Given the description of an element on the screen output the (x, y) to click on. 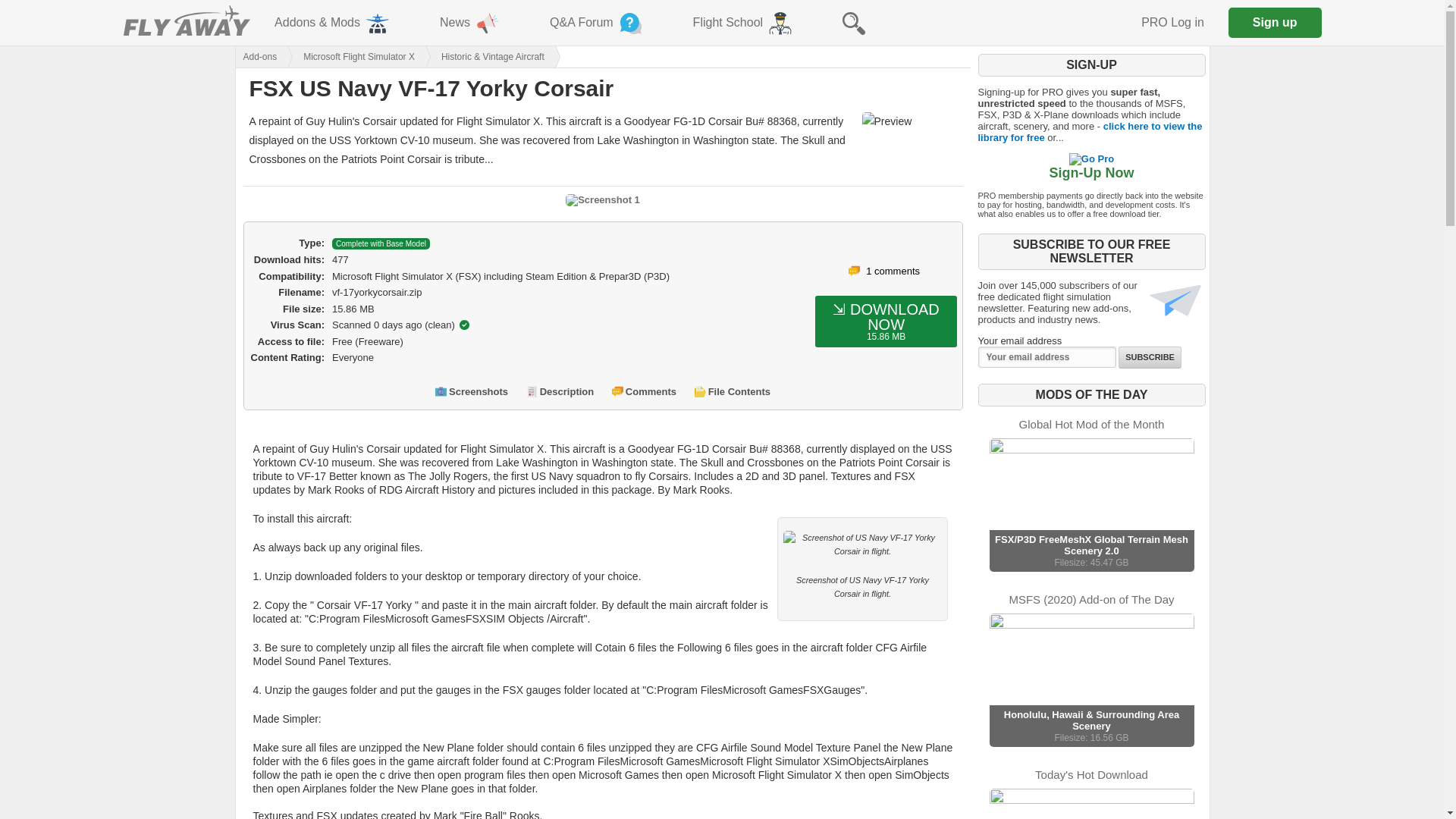
Sign up (1275, 22)
Add-ons (255, 56)
Flight School (743, 22)
Microsoft Flight Simulator X (345, 56)
Description (567, 390)
1 comments (893, 270)
Login to your Fly Away Simulation account (1172, 22)
Flight simulation and related news topics (469, 22)
This file comes with a complete base model and paint. (380, 243)
